Given the description of an element on the screen output the (x, y) to click on. 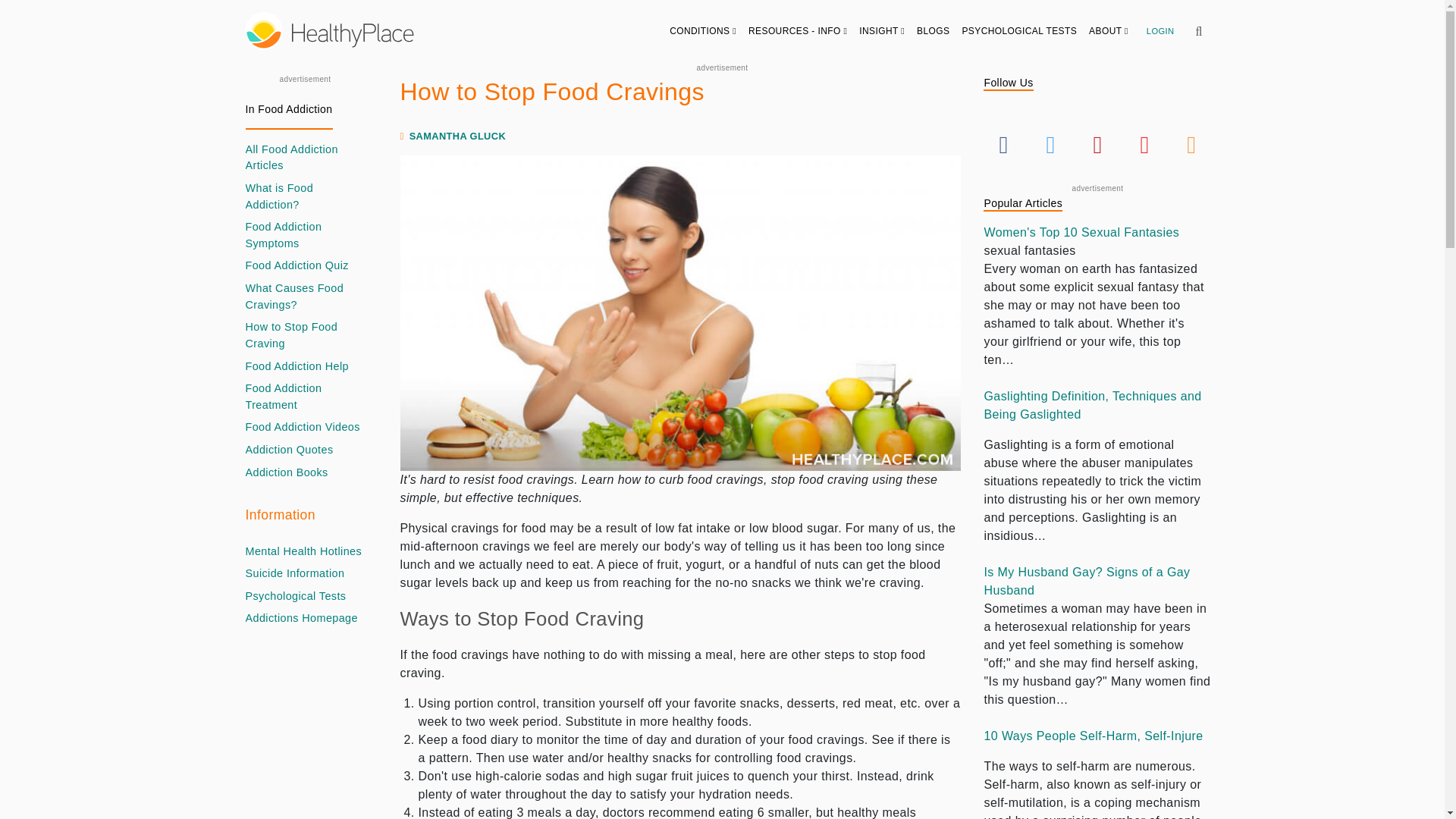
Mental Health Hotline Numbers and Referral Resources (304, 551)
Beautiful Addiction Quote Images (289, 450)
CONDITIONS (702, 31)
Helpful Books on Addictions (287, 473)
Take a Psychological Test (296, 596)
List of All Food Addiction Articles (305, 157)
RESOURCES - INFO (797, 31)
INSIGHT (882, 31)
